Given the description of an element on the screen output the (x, y) to click on. 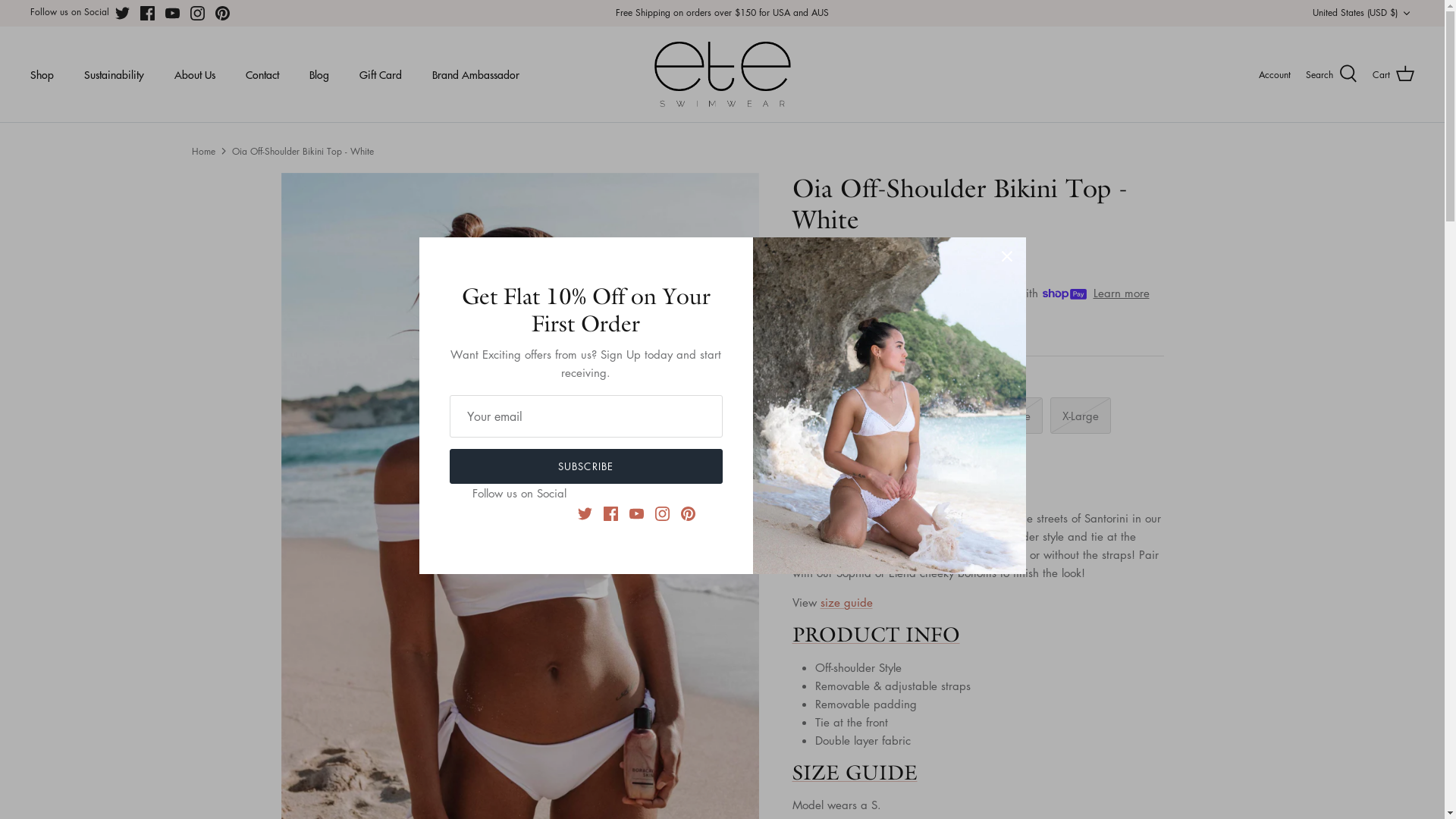
Facebook Element type: text (147, 13)
United States (USD $)
Down Element type: text (1363, 12)
Youtube Element type: text (172, 13)
Gift Card Element type: text (380, 74)
Home Element type: text (202, 150)
Sustainability Element type: text (113, 74)
RIGHT Element type: text (741, 530)
Shop Element type: text (41, 74)
Twitter Element type: text (122, 13)
Blog Element type: text (318, 74)
PRODUCT INFO Element type: text (875, 633)
size guide Element type: text (846, 601)
Ete Swimwear Element type: text (843, 330)
Oia Off-Shoulder Bikini Top - White Element type: text (302, 150)
Brand Ambassador Element type: text (475, 74)
Cart Element type: text (1393, 74)
Pinterest Element type: text (222, 13)
Contact Element type: text (262, 74)
About Us Element type: text (194, 74)
Ete Swimwear Element type: hover (721, 73)
Search Element type: text (1331, 74)
SIZE GUIDE Element type: text (853, 771)
Instagram Element type: text (197, 13)
SUBSCRIBE Element type: text (584, 465)
Account Element type: text (1274, 73)
